Given the description of an element on the screen output the (x, y) to click on. 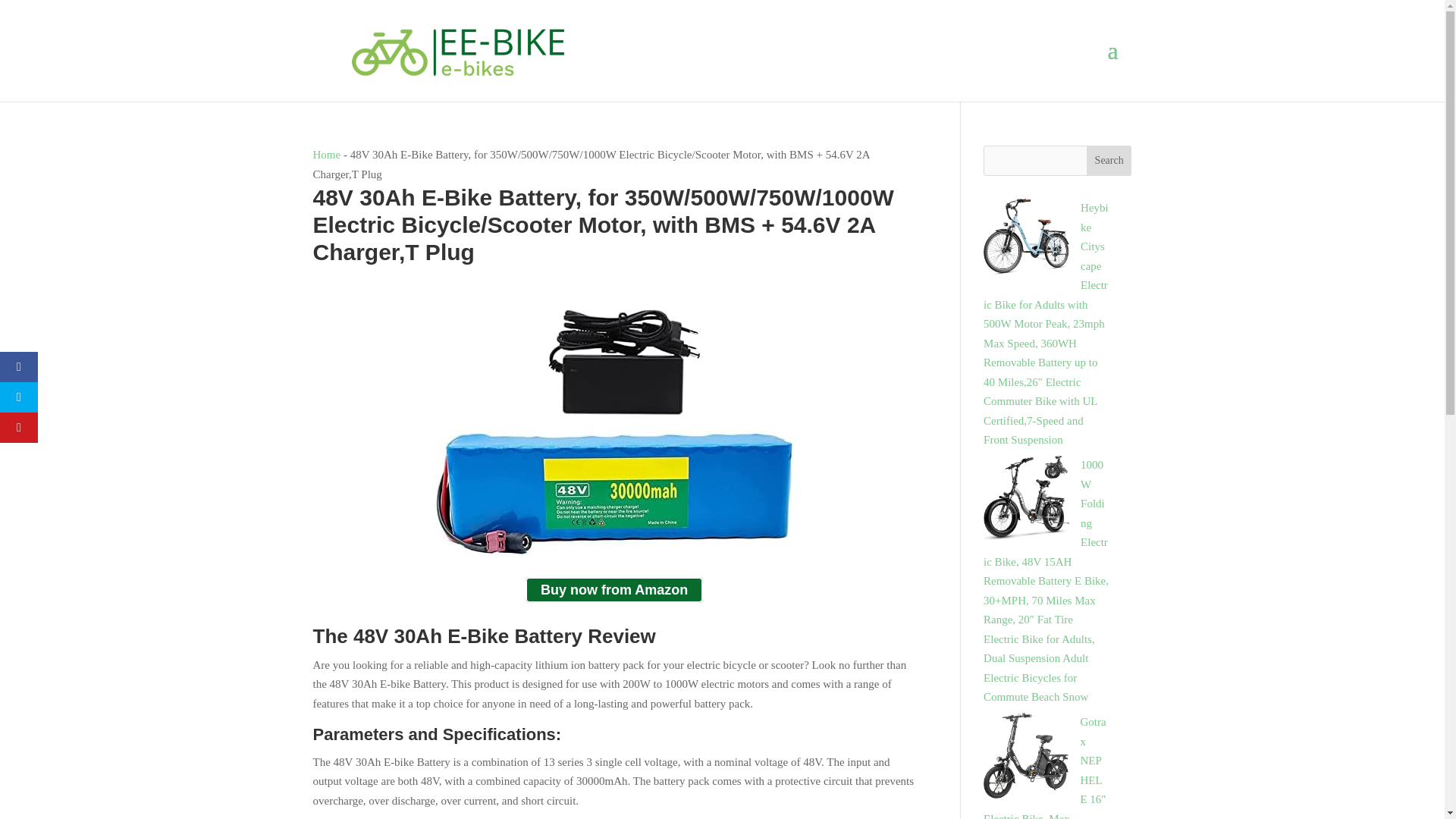
Buy now from Amazon (614, 590)
Search (1109, 160)
Home (326, 154)
